Given the description of an element on the screen output the (x, y) to click on. 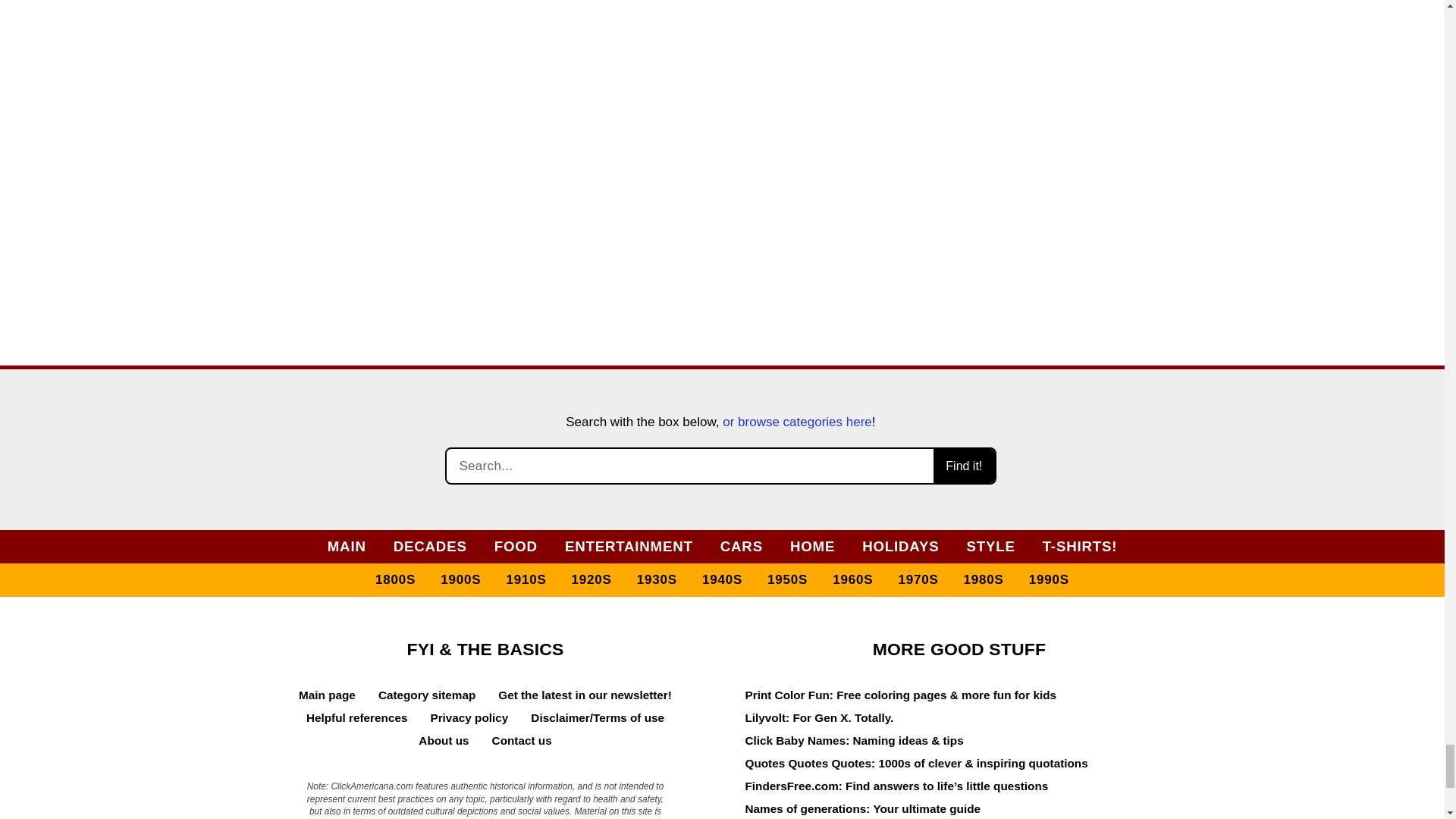
Vintage-look ARIZONA sunset distressed look T-Shirt (1074, 96)
Vintage-look HAWAII sunset distressed look T-Shirt (839, 96)
